Given the description of an element on the screen output the (x, y) to click on. 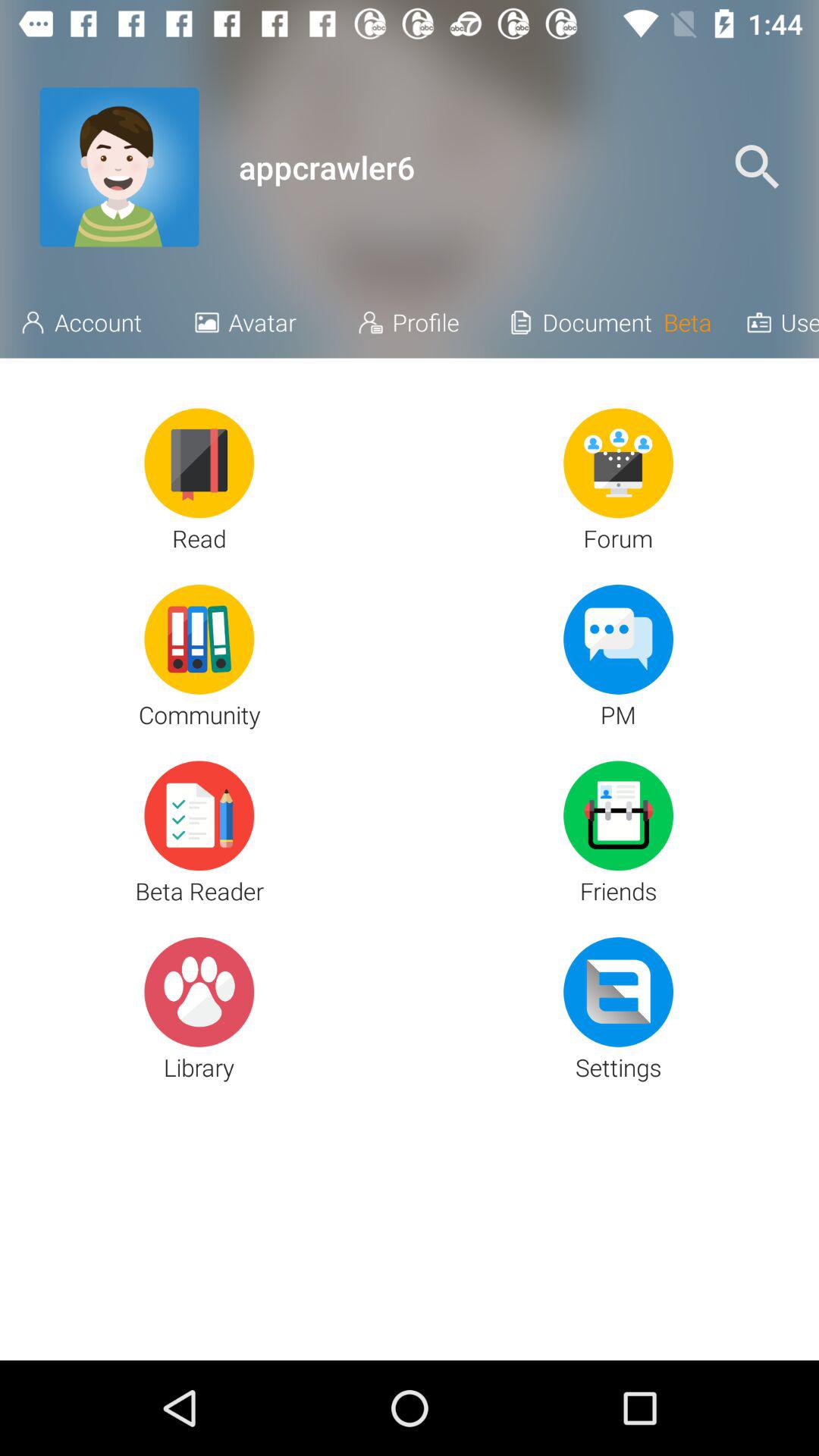
turn off the icon to the right of appcrawler6 icon (757, 167)
